Given the description of an element on the screen output the (x, y) to click on. 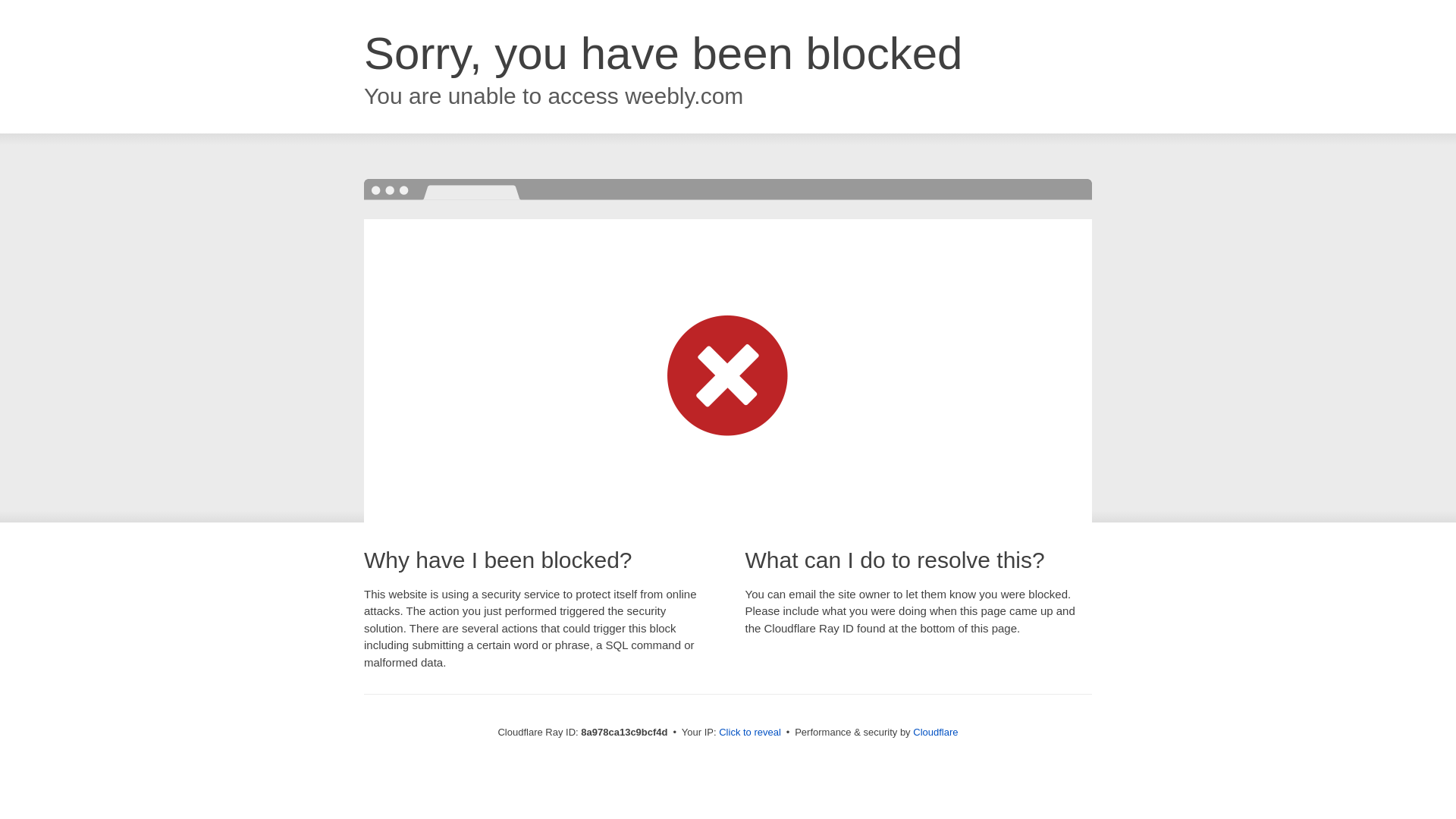
Cloudflare (935, 731)
Click to reveal (749, 732)
